Given the description of an element on the screen output the (x, y) to click on. 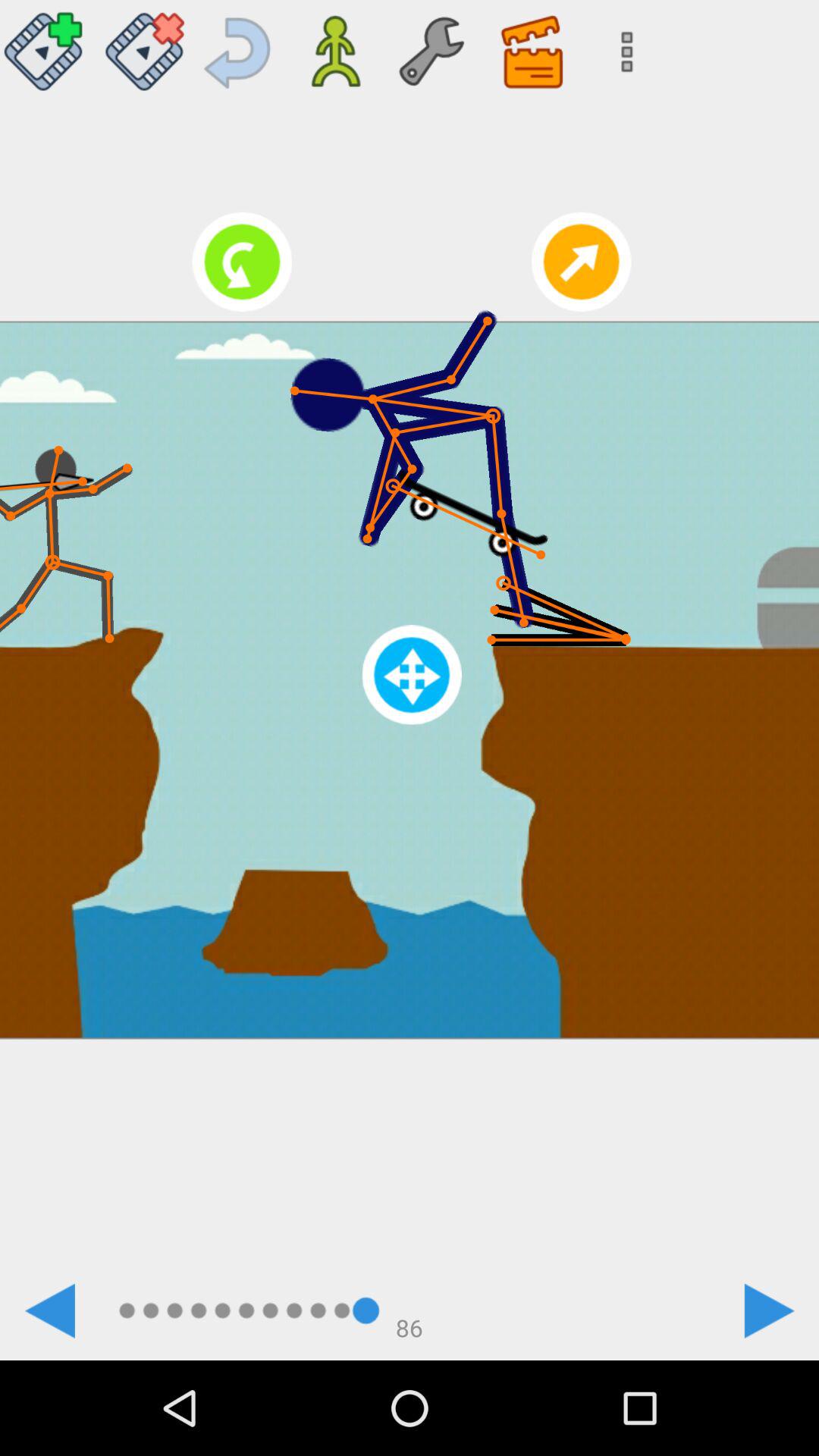
go to next page (769, 1310)
